Given the description of an element on the screen output the (x, y) to click on. 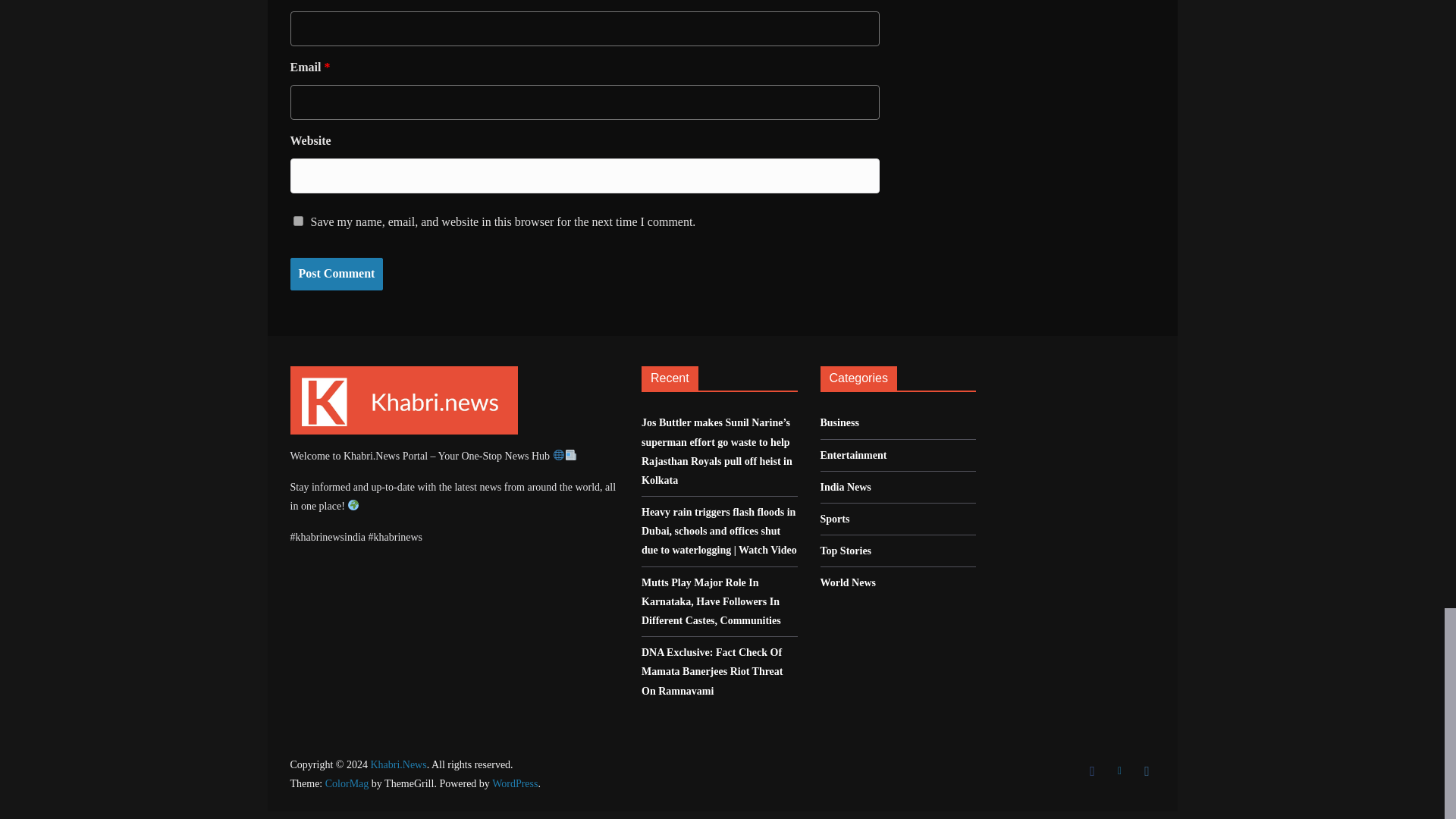
yes (297, 221)
Post Comment (335, 273)
